Given the description of an element on the screen output the (x, y) to click on. 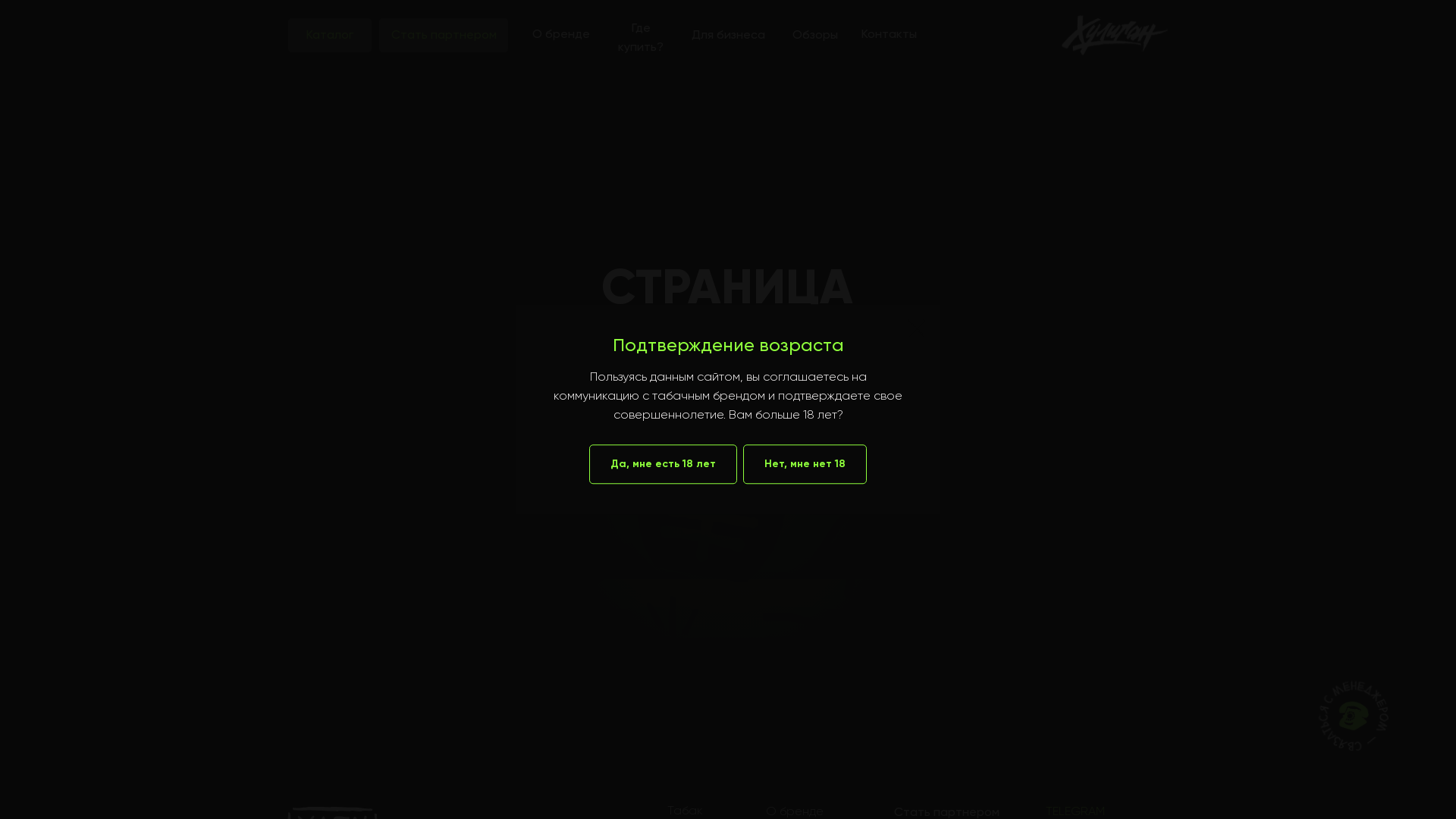
TELEGRAM Element type: text (1074, 812)
